Given the description of an element on the screen output the (x, y) to click on. 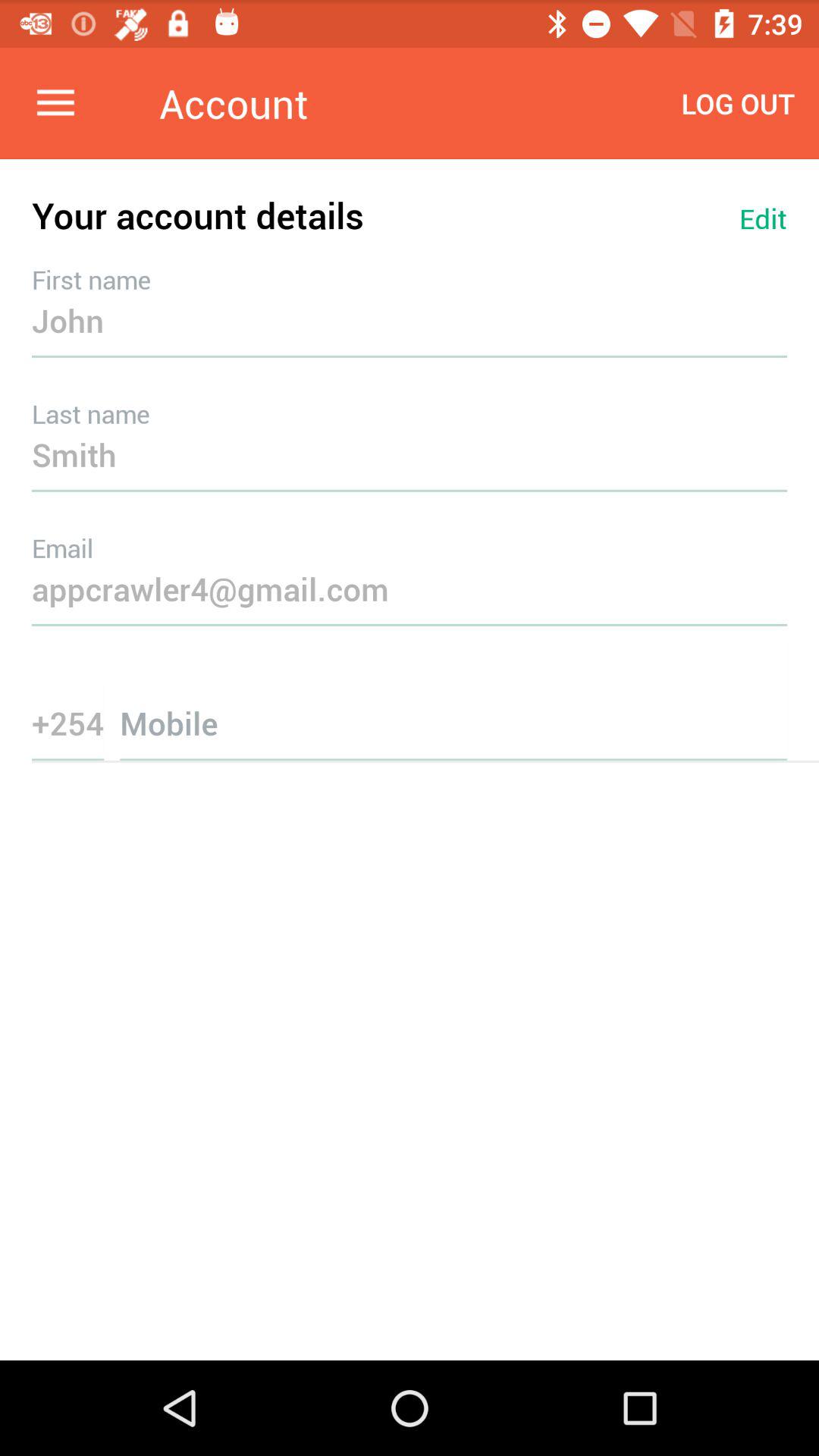
open icon above your account details item (738, 103)
